Given the description of an element on the screen output the (x, y) to click on. 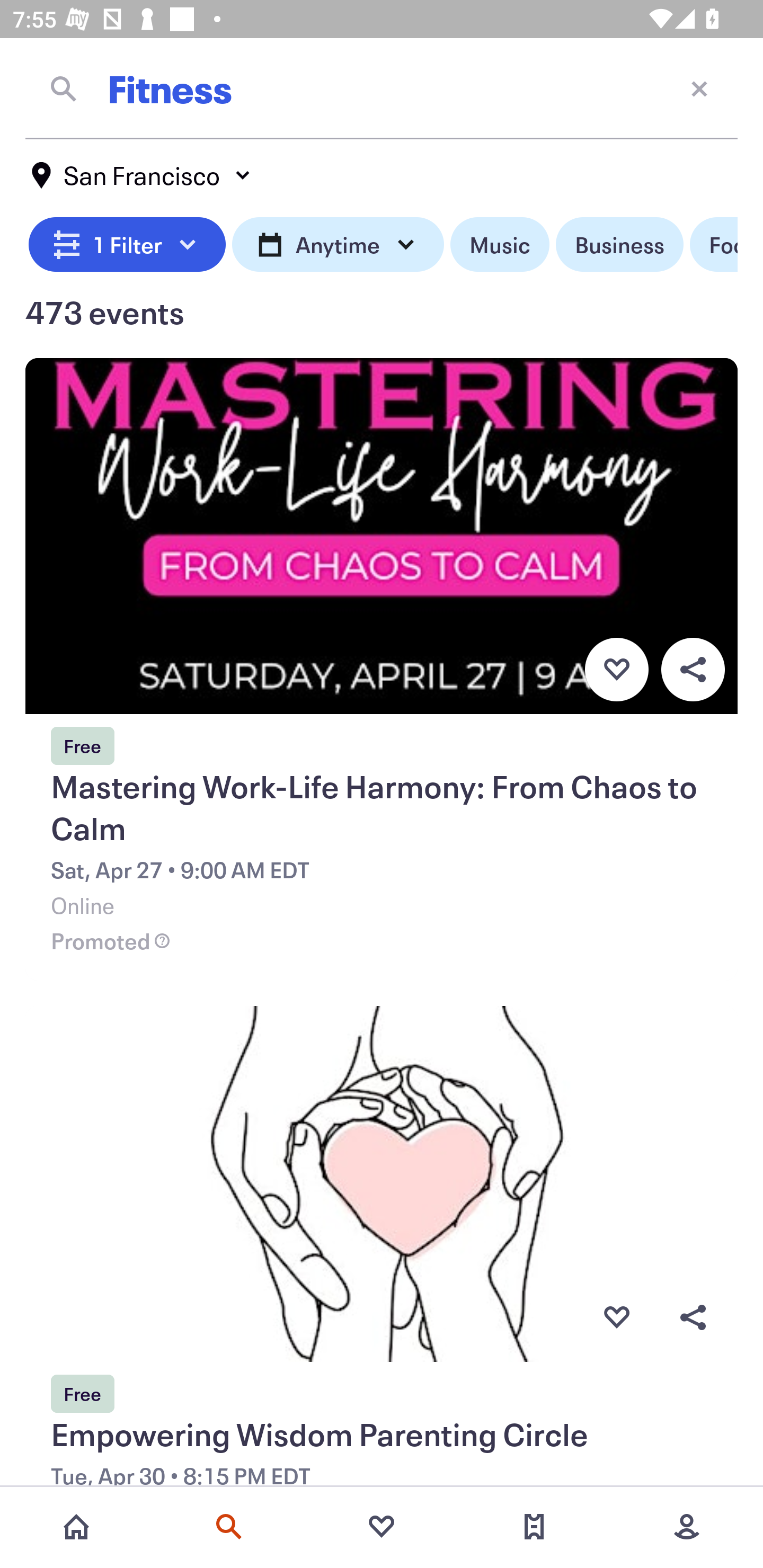
Fitness Close current screen (381, 88)
Close current screen (699, 88)
San Francisco (141, 175)
1 Filter (126, 244)
Anytime (337, 244)
Music (499, 244)
Business (619, 244)
Favorite button (616, 669)
Overflow menu button (692, 669)
Favorite button (616, 1317)
Overflow menu button (692, 1317)
Home (76, 1526)
Search events (228, 1526)
Favorites (381, 1526)
Tickets (533, 1526)
More (686, 1526)
